Given the description of an element on the screen output the (x, y) to click on. 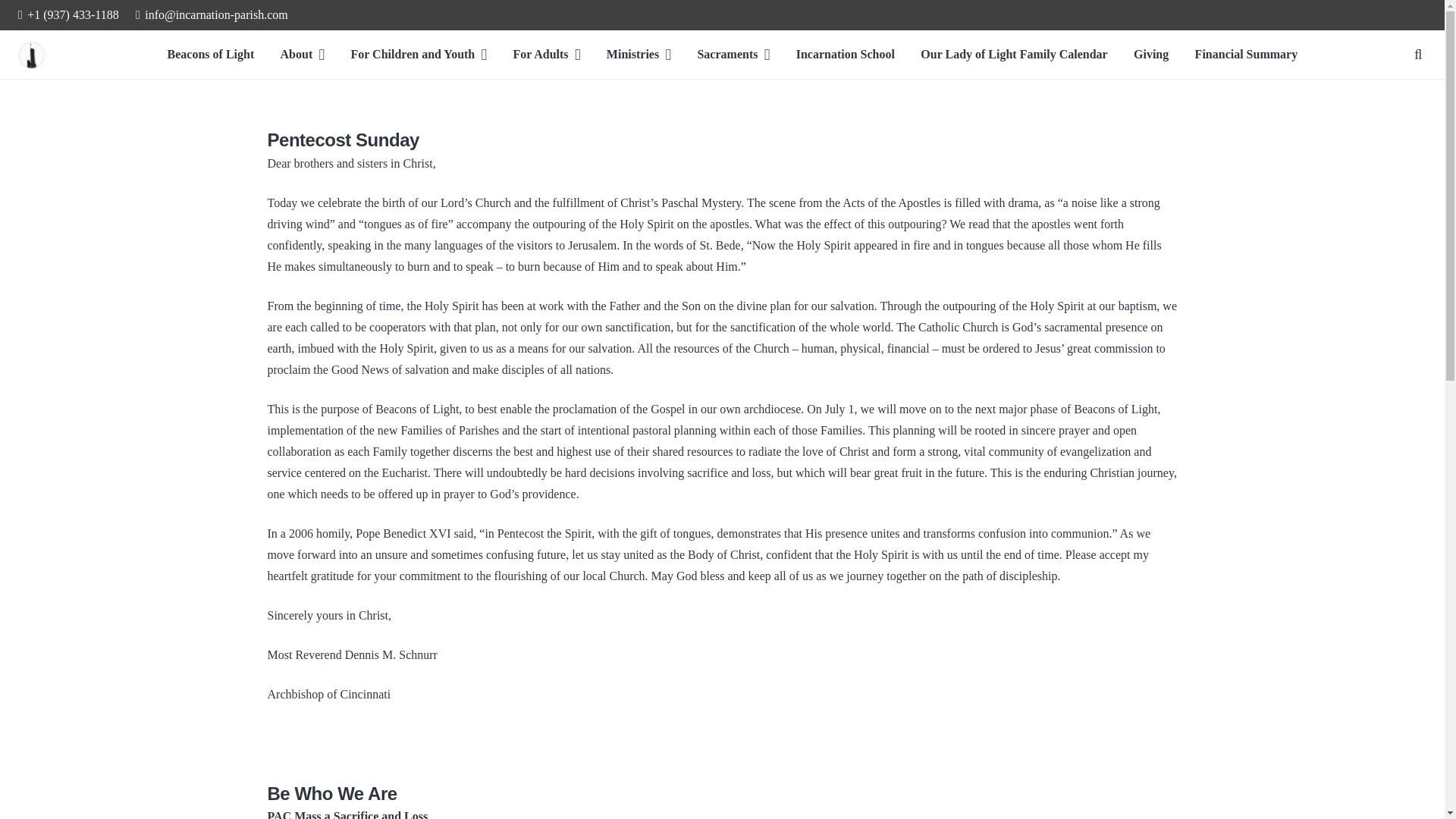
Ministries (638, 54)
Sacraments (732, 54)
For Adults (546, 54)
About (303, 54)
Beacons of Light (211, 54)
For Children and Youth (419, 54)
